Given the description of an element on the screen output the (x, y) to click on. 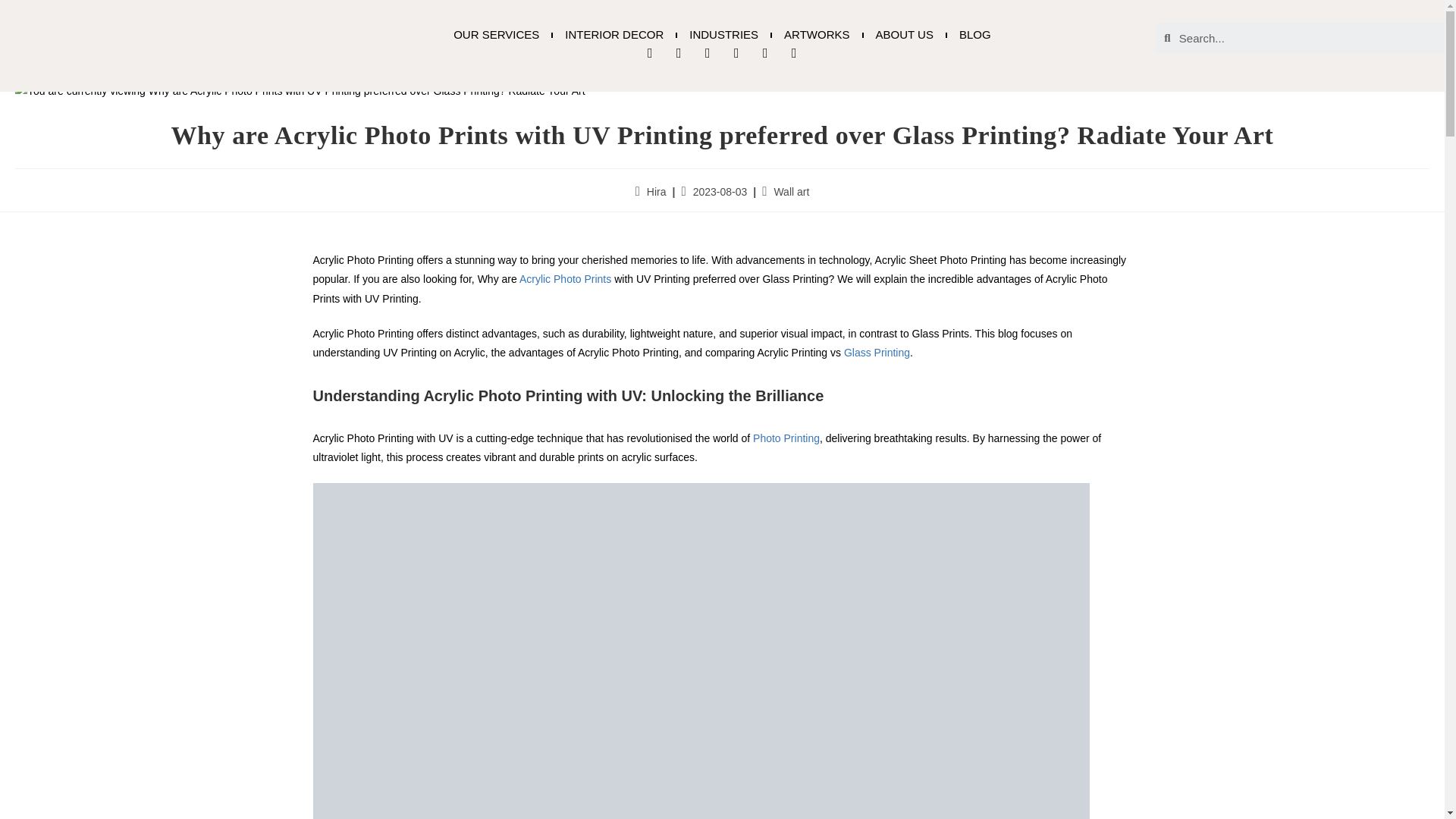
Posts by Hira (656, 191)
INTERIOR DECOR (613, 34)
OUR SERVICES (495, 34)
ARTWORKS (816, 34)
INDUSTRIES (723, 34)
BLOG (975, 34)
ABOUT US (904, 34)
